Given the description of an element on the screen output the (x, y) to click on. 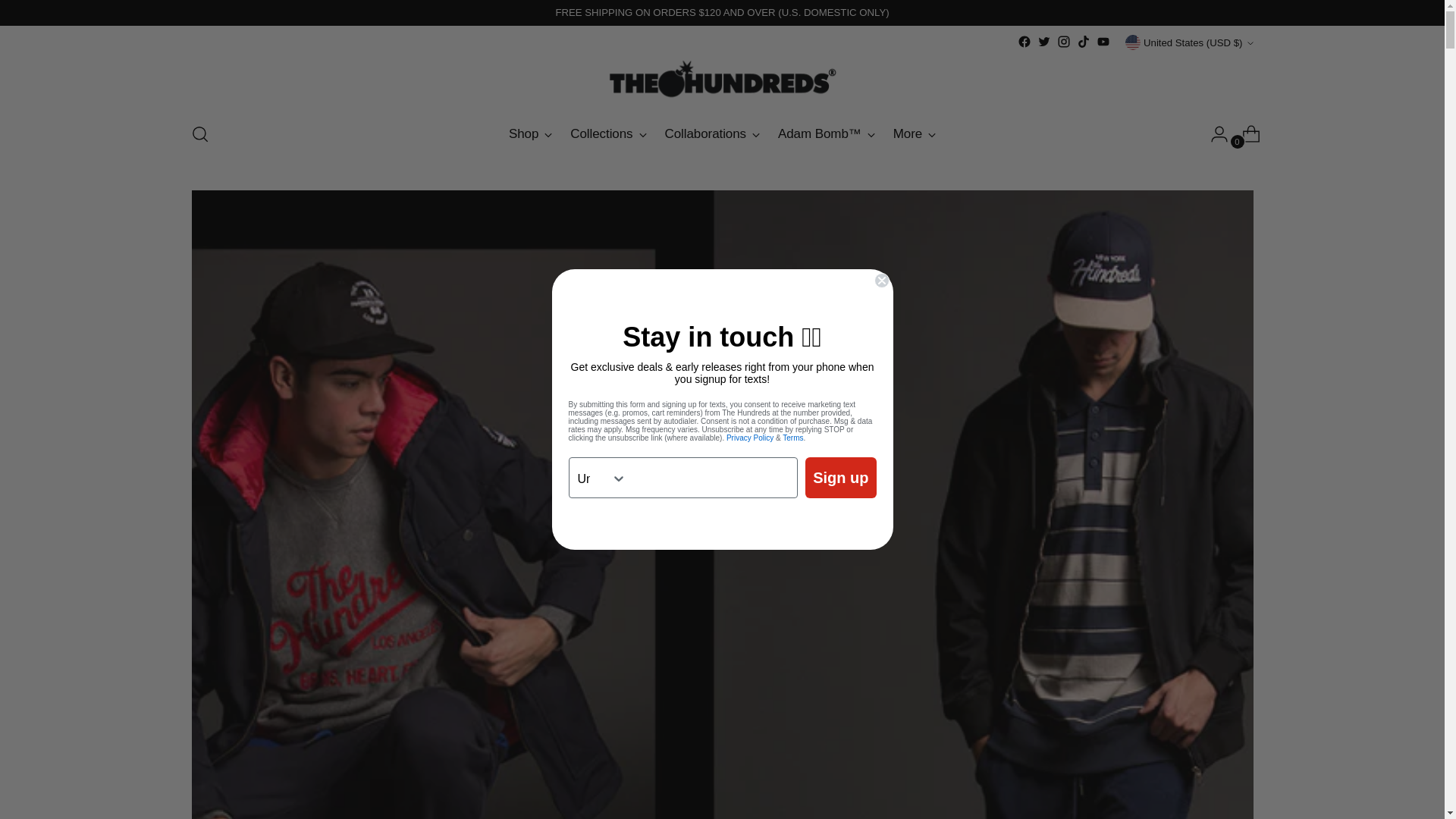
The Hundreds on YouTube (1102, 41)
The Hundreds on Facebook (1023, 41)
United States (583, 477)
The Hundreds on Twitter (1043, 41)
The Hundreds on Tiktok (1083, 41)
The Hundreds on Instagram (1063, 41)
